Given the description of an element on the screen output the (x, y) to click on. 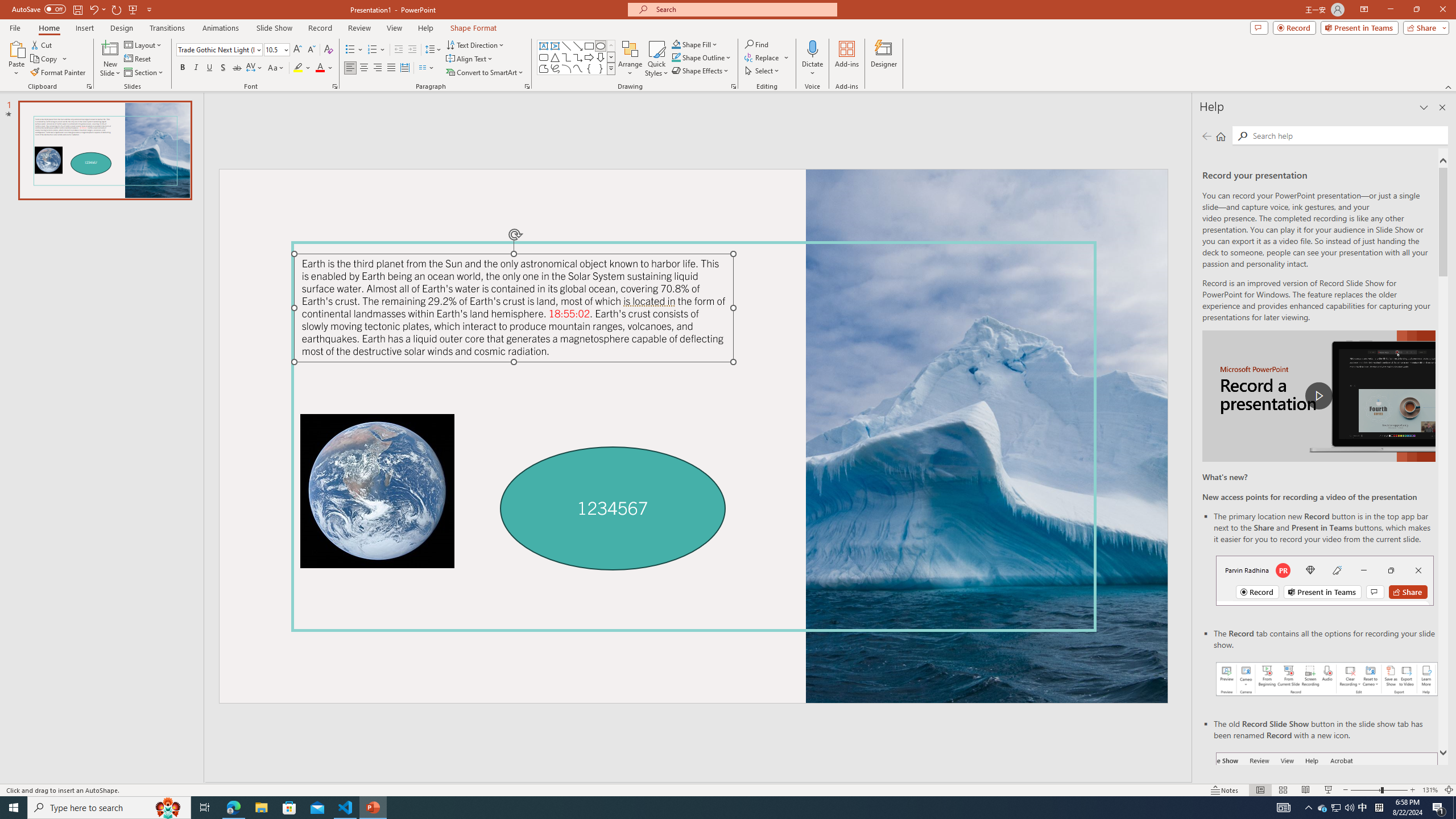
Office Clipboard... (88, 85)
Minimize (1390, 9)
Section (144, 72)
Insert (83, 28)
Align Left (349, 67)
Row Down (611, 56)
Font (215, 49)
Animations (220, 28)
Comments (1259, 27)
AutoSave (38, 9)
Underline (209, 67)
Paste (16, 58)
Design (122, 28)
Normal (1260, 790)
